Given the description of an element on the screen output the (x, y) to click on. 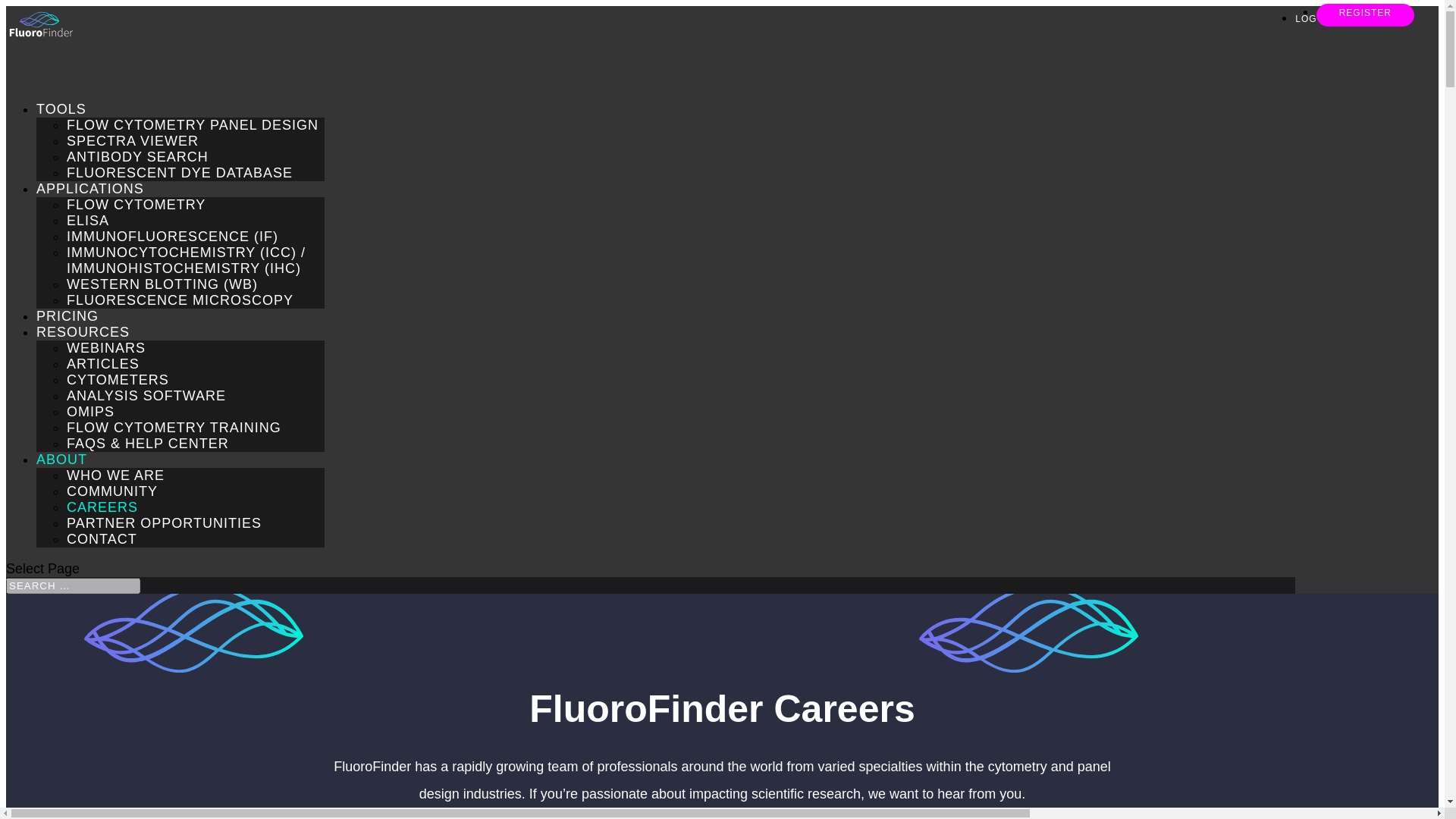
REGISTER (1364, 12)
WEBINARS (105, 347)
WHO WE ARE (115, 475)
SPECTRA VIEWER (132, 140)
ELISA (87, 220)
ANTIBODY SEARCH (137, 156)
APPLICATIONS (90, 209)
FLUORESCENT DYE DATABASE (179, 172)
OMIPS (90, 411)
FLOW CYTOMETRY PANEL DESIGN (192, 124)
